Given the description of an element on the screen output the (x, y) to click on. 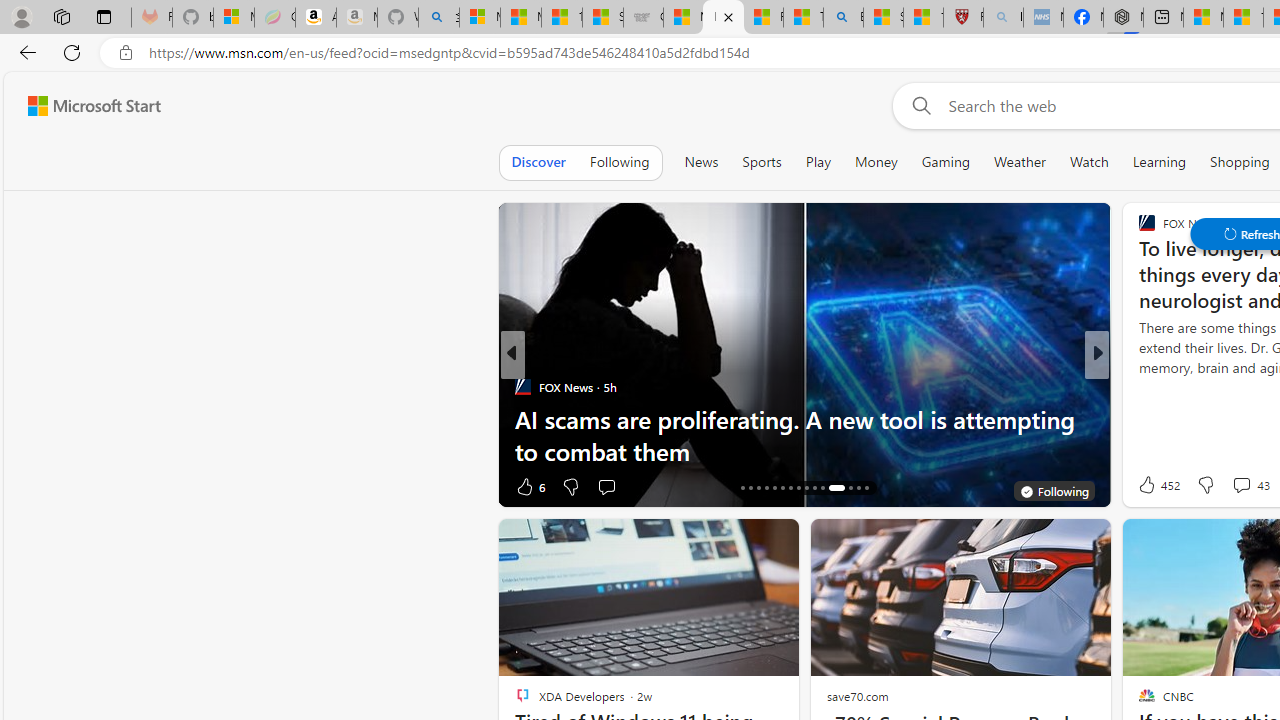
FOX News (522, 386)
20 Like (1149, 486)
452 Like (1157, 484)
Moneywise (1138, 386)
AutomationID: tab-20 (774, 487)
AutomationID: tab-29 (857, 487)
AutomationID: tab-28 (850, 487)
AutomationID: tab-25 (814, 487)
